Given the description of an element on the screen output the (x, y) to click on. 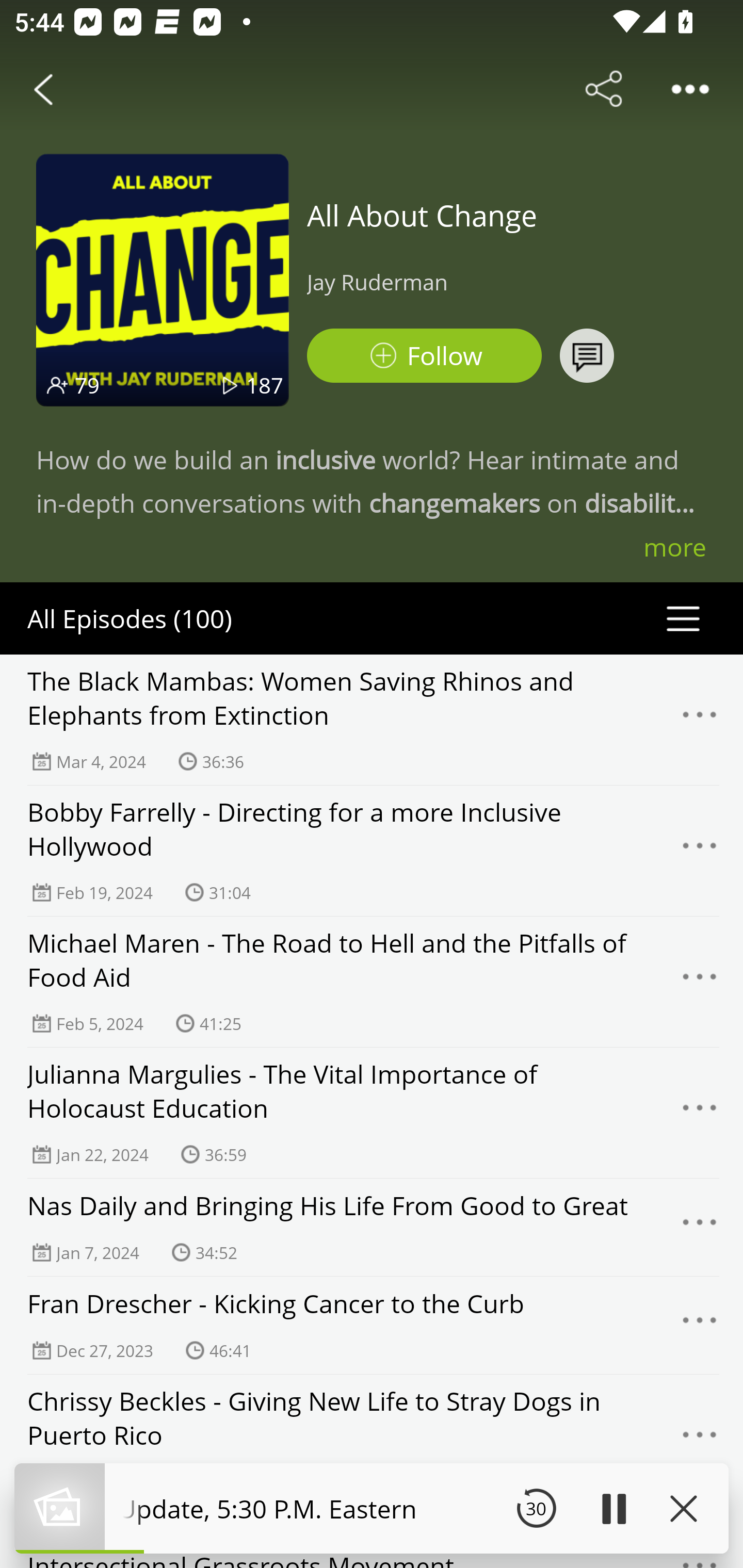
Back (43, 88)
Podbean Follow (423, 355)
79 (87, 384)
more (674, 546)
Menu (699, 720)
Menu (699, 850)
Menu (699, 982)
Menu (699, 1113)
Menu (699, 1227)
Menu (699, 1325)
Menu (699, 1440)
Play (613, 1507)
30 Seek Backward (536, 1508)
